Given the description of an element on the screen output the (x, y) to click on. 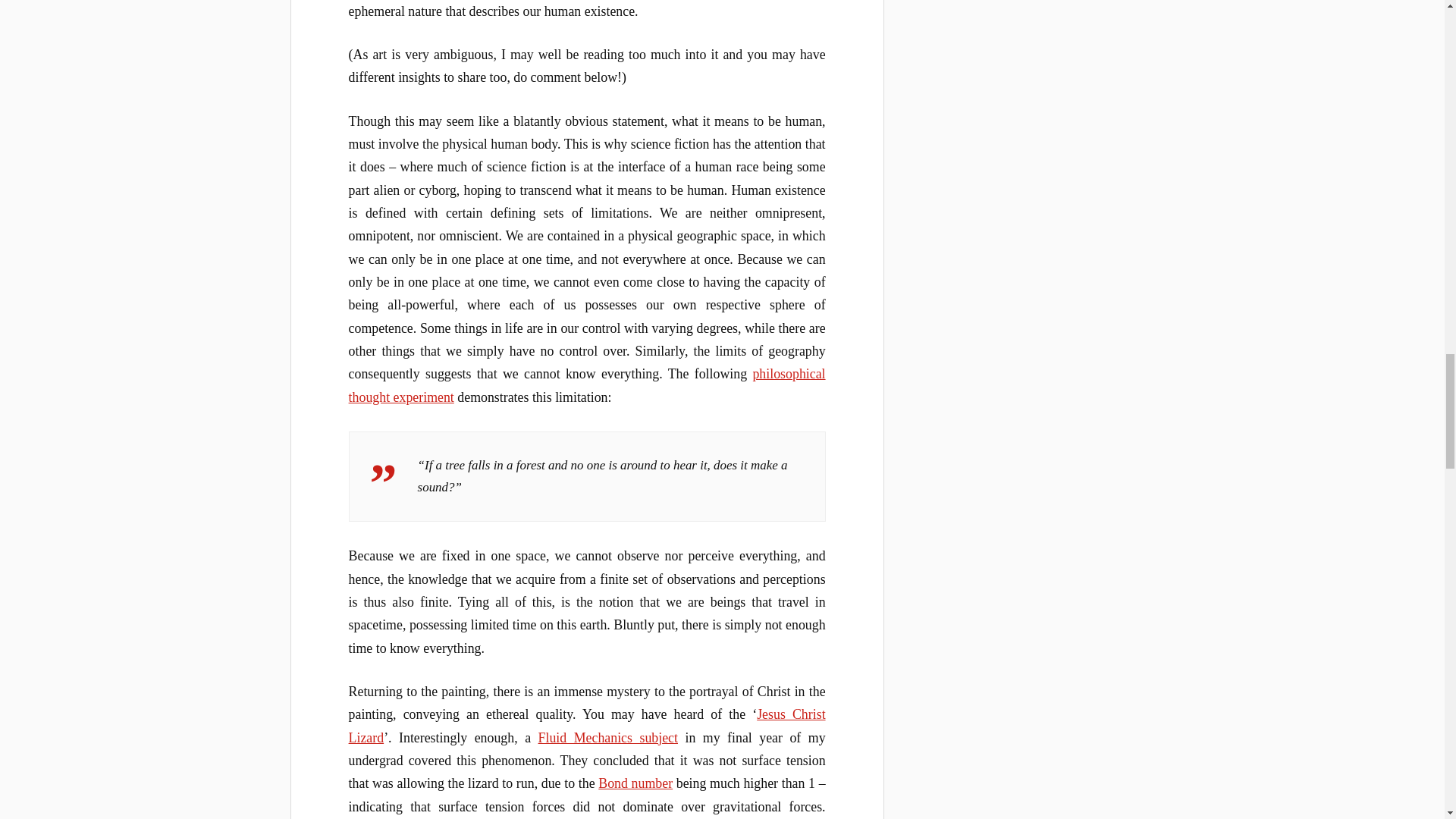
Fluid Mechanics subject (608, 737)
philosophical thought experiment (587, 385)
Jesus Christ Lizard (587, 725)
Bond number (635, 783)
